Given the description of an element on the screen output the (x, y) to click on. 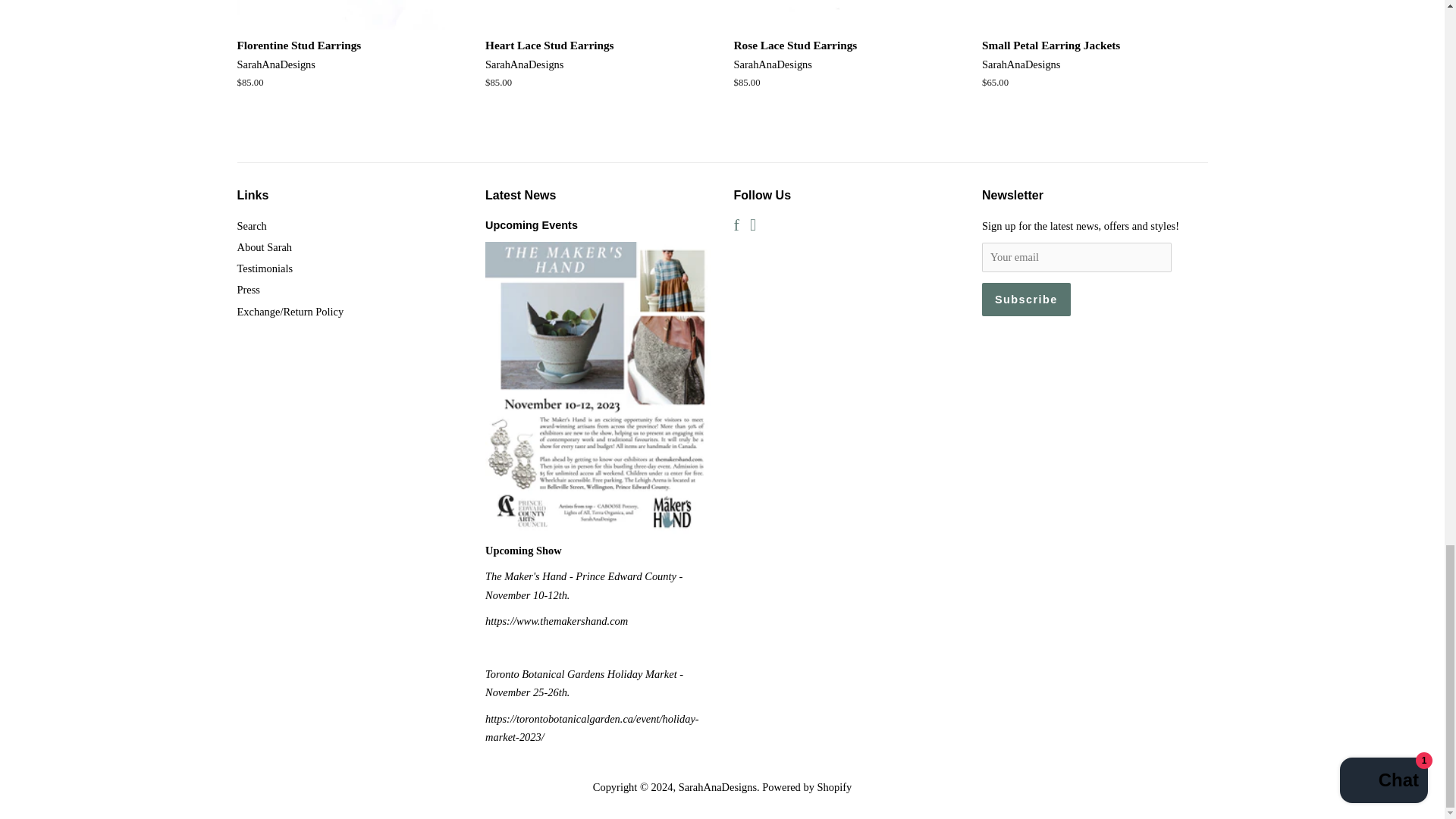
About Sarah (263, 246)
Subscribe (1025, 299)
Search (250, 225)
